Given the description of an element on the screen output the (x, y) to click on. 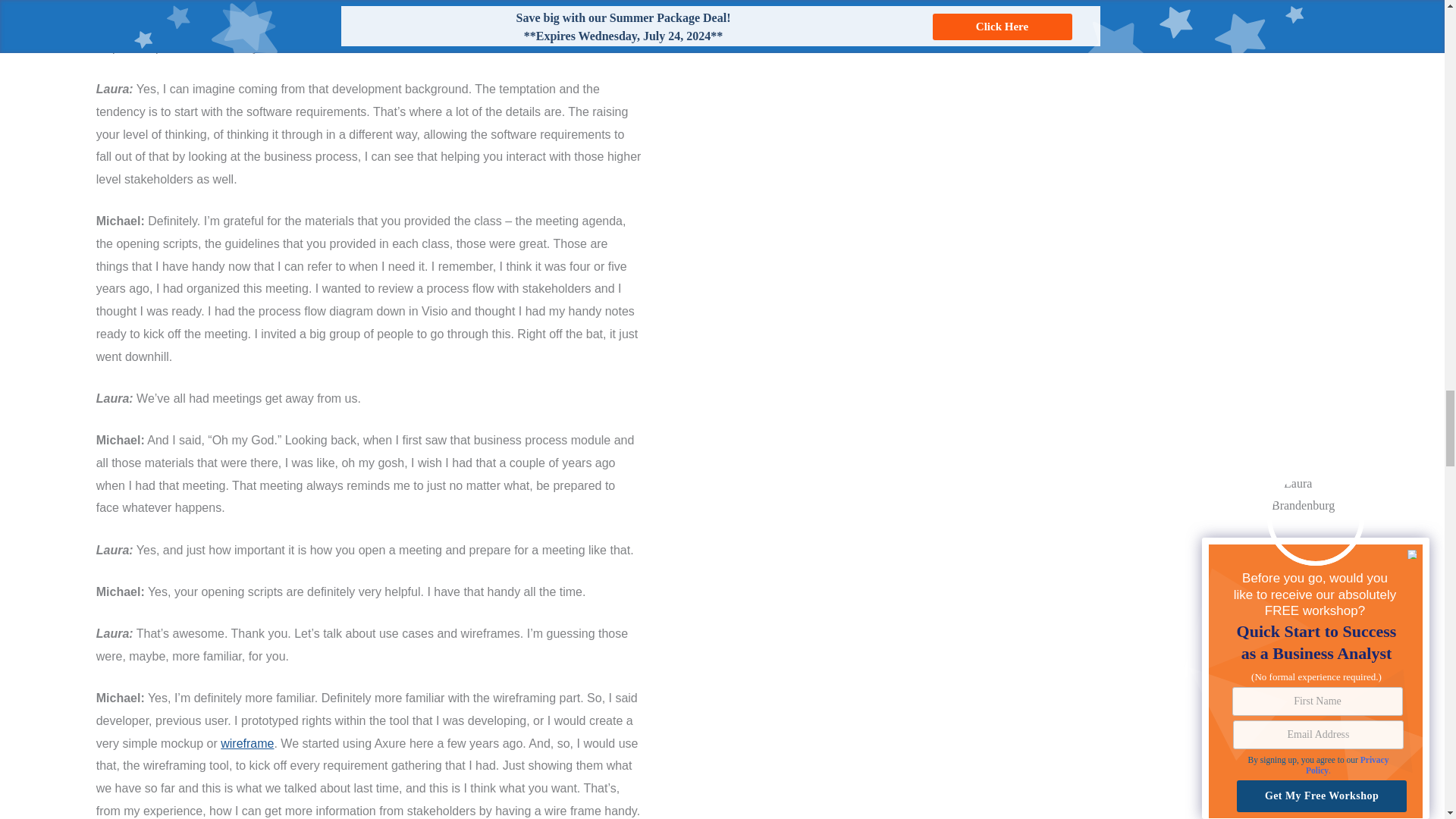
wireframe (247, 743)
